Given the description of an element on the screen output the (x, y) to click on. 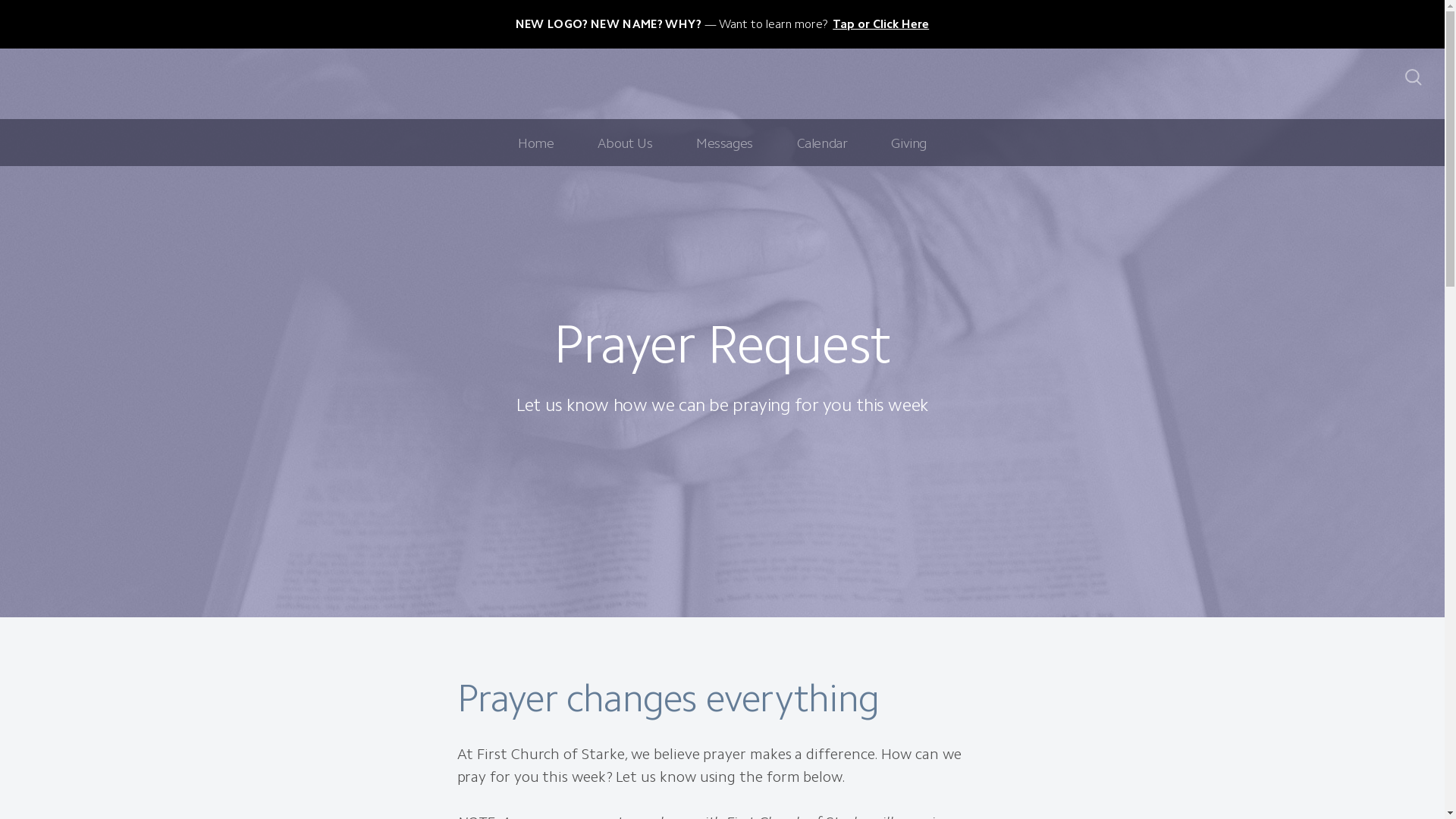
Calendar Element type: text (822, 142)
Home Element type: text (535, 142)
Giving Element type: text (908, 142)
Messages Element type: text (724, 142)
About Us Element type: text (624, 142)
